Given the description of an element on the screen output the (x, y) to click on. 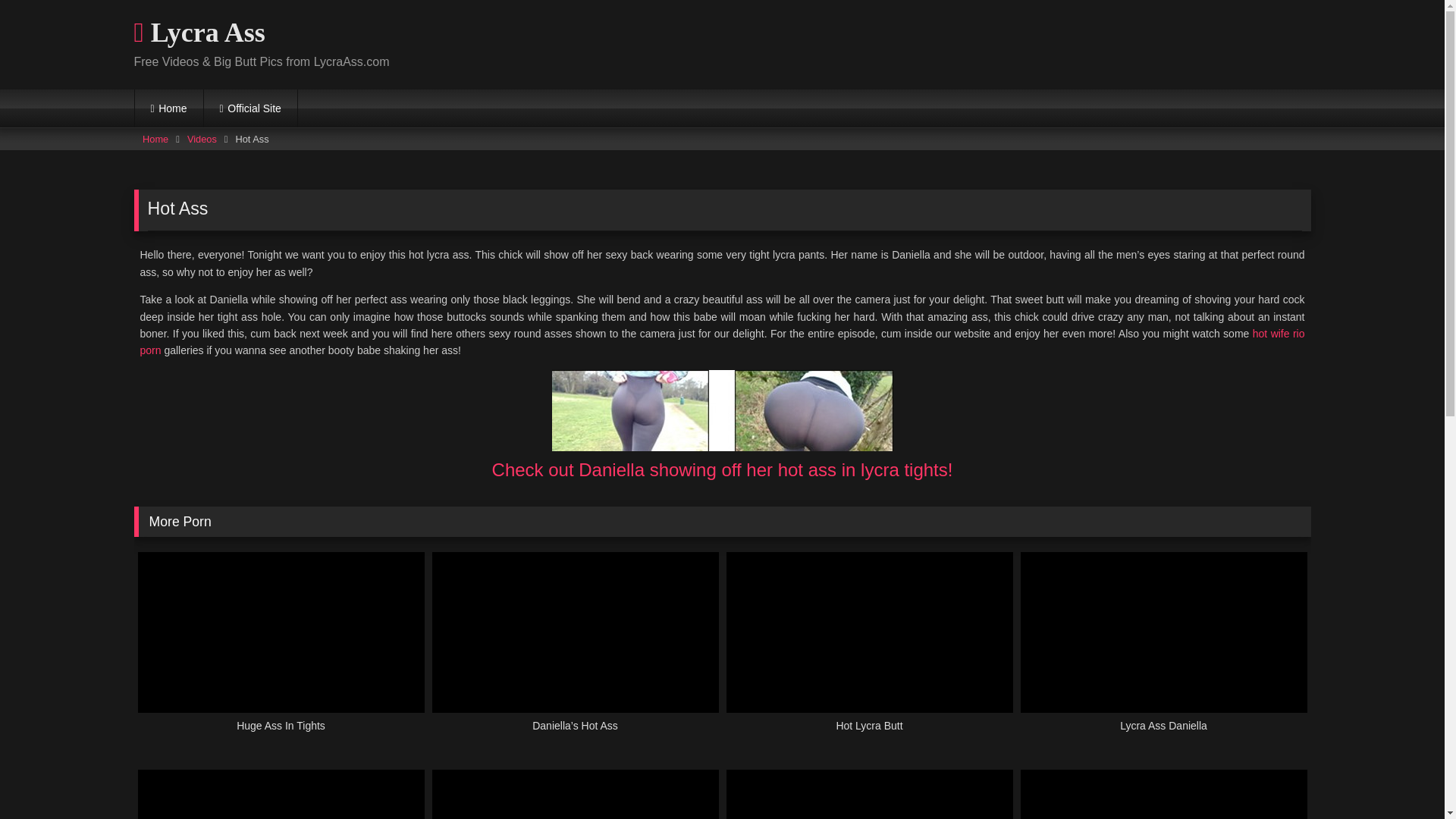
Home (169, 108)
Lycra Ass (198, 32)
Sexy Pink Ass (281, 794)
Real Horny MILF (1163, 794)
hot wife rio porn (721, 341)
Real Horny MILF (1163, 794)
Lycra Ass in Tights (575, 794)
Lycra Ass in Tights (575, 794)
Lycra Ass Daniella (1163, 651)
hot ass (722, 410)
